Given the description of an element on the screen output the (x, y) to click on. 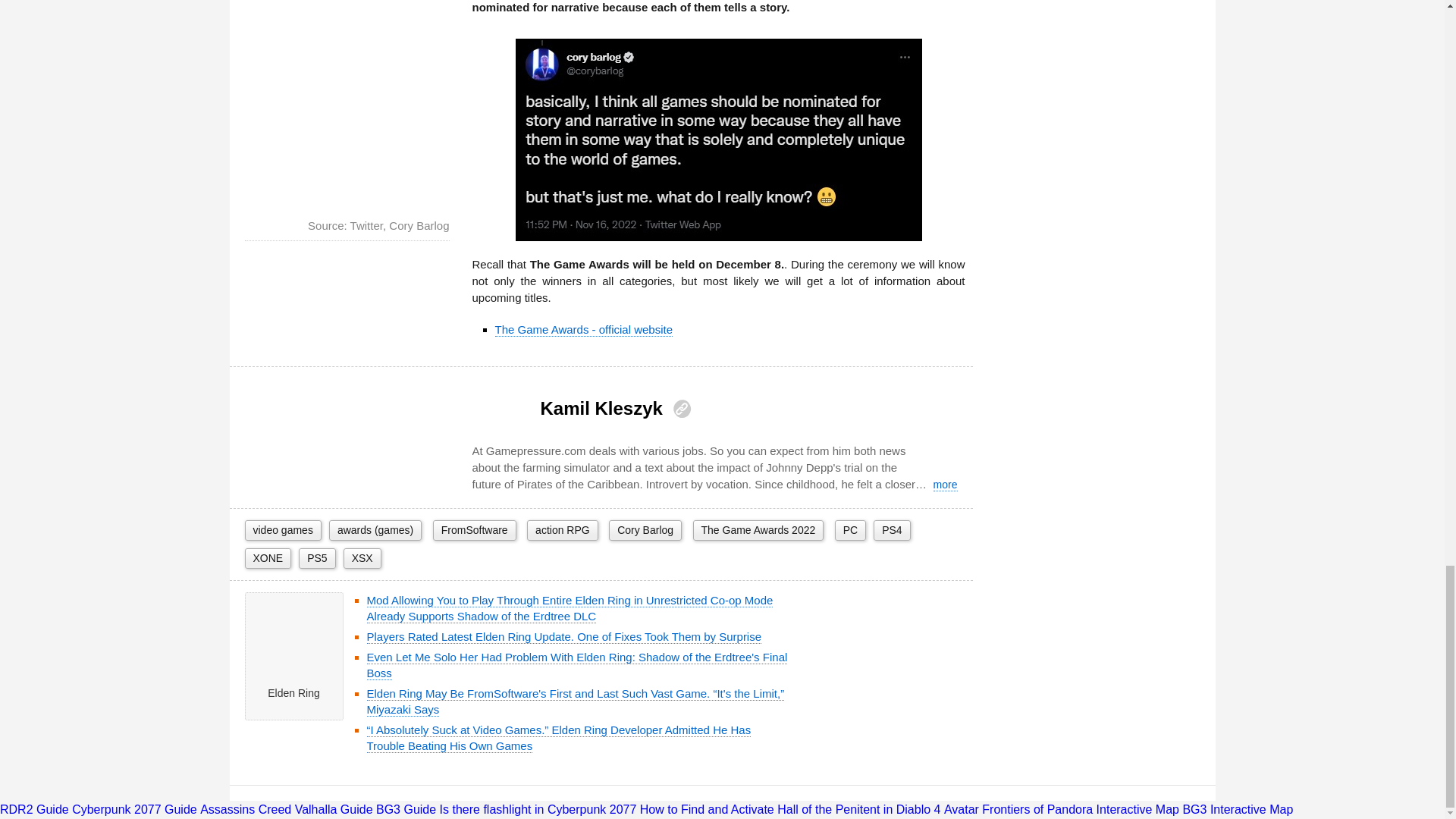
video games (282, 530)
The Game Awards 2022 (758, 530)
PC (850, 530)
FromSoftware (474, 530)
The Game Awards - official website (583, 329)
Cory Barlog (644, 530)
PS4 (891, 530)
action RPG (562, 530)
